Given the description of an element on the screen output the (x, y) to click on. 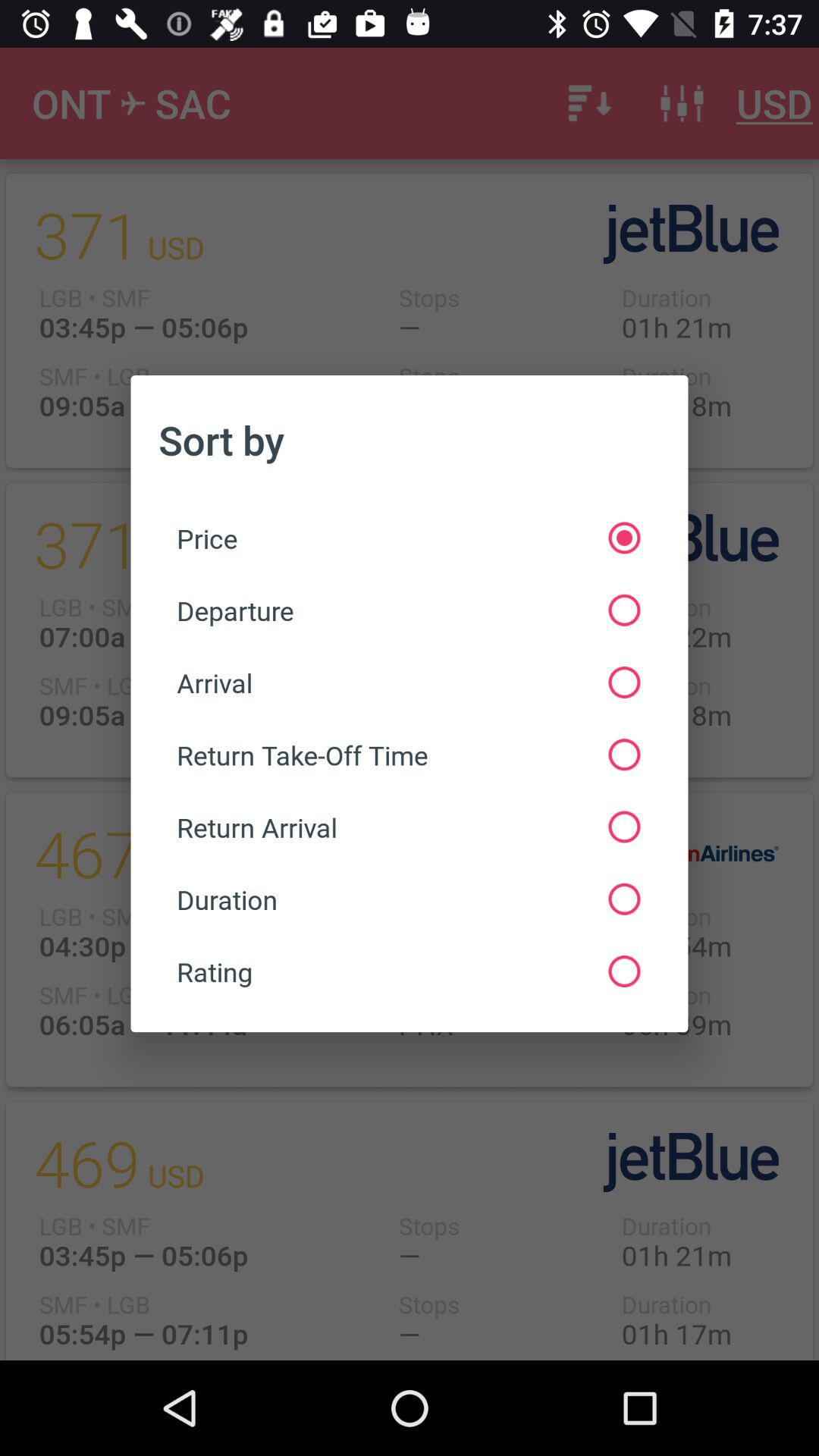
press icon below duration icon (408, 971)
